Given the description of an element on the screen output the (x, y) to click on. 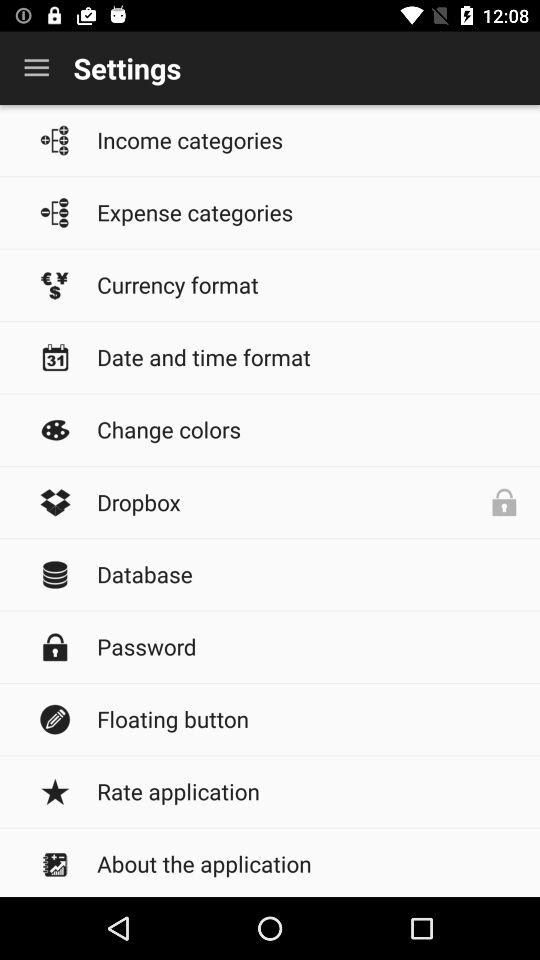
click database icon (308, 574)
